Given the description of an element on the screen output the (x, y) to click on. 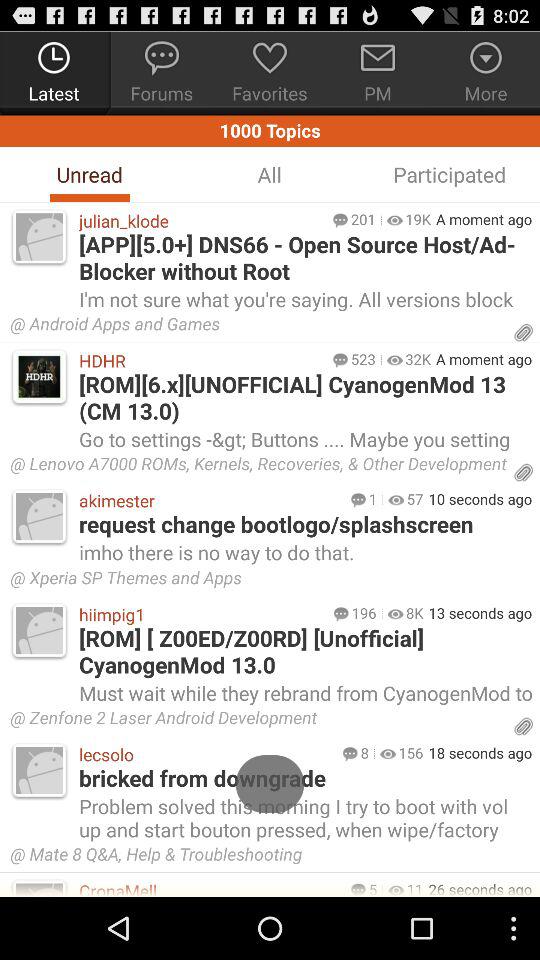
choose the icon below xperia sp themes item (414, 612)
